Given the description of an element on the screen output the (x, y) to click on. 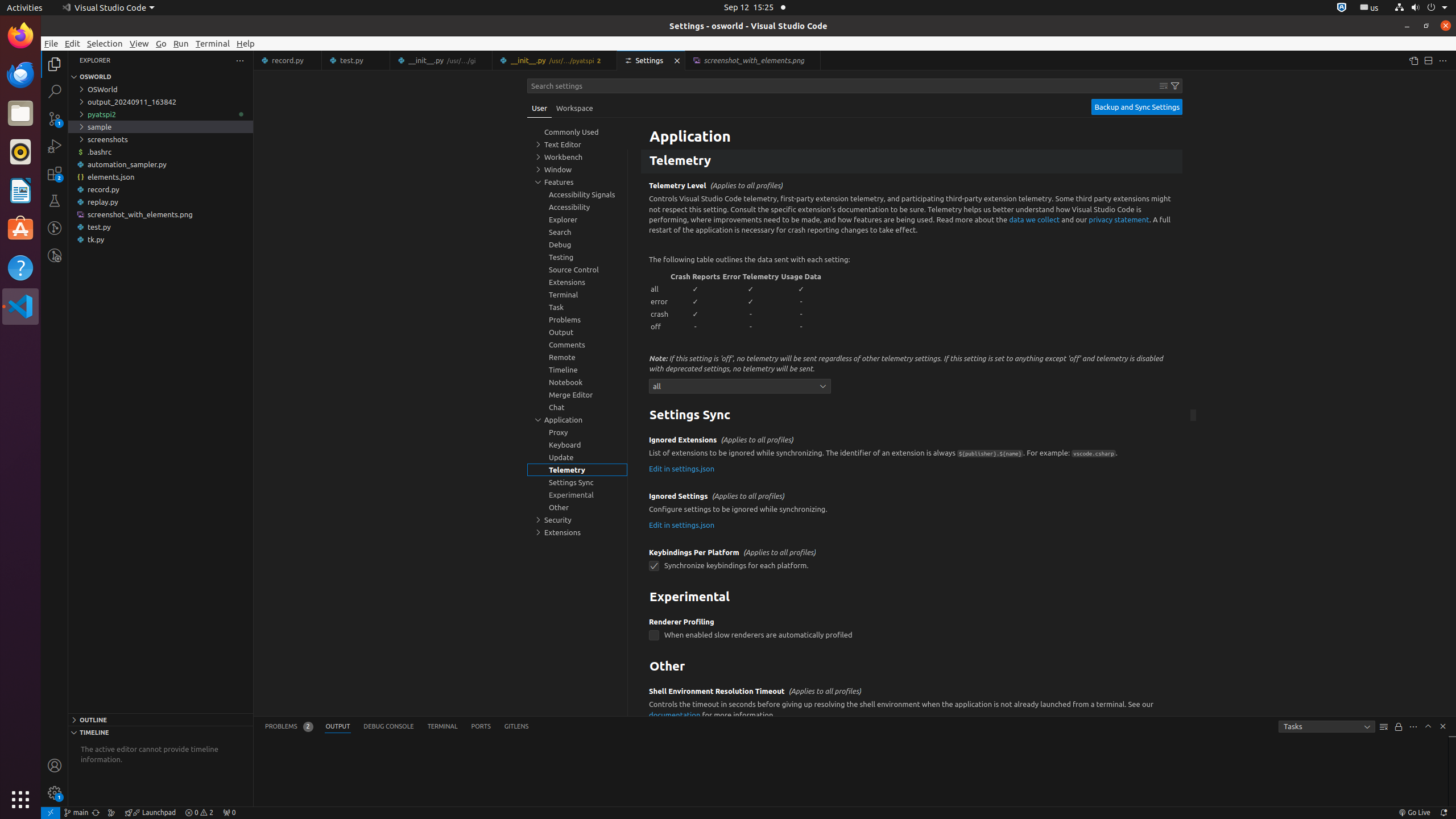
 Show Release Notes. Setting value retained when switching profiles. Show Release Notes after an update. The Release Notes are fetched from a Microsoft online service.  Element type: tree-item (911, 126)
Explorer, group Element type: tree-item (577, 219)
Timeline, group Element type: tree-item (577, 369)
Explorer (Ctrl+Shift+E) Element type: page-tab (54, 63)
Terminal Element type: push-button (212, 43)
